Given the description of an element on the screen output the (x, y) to click on. 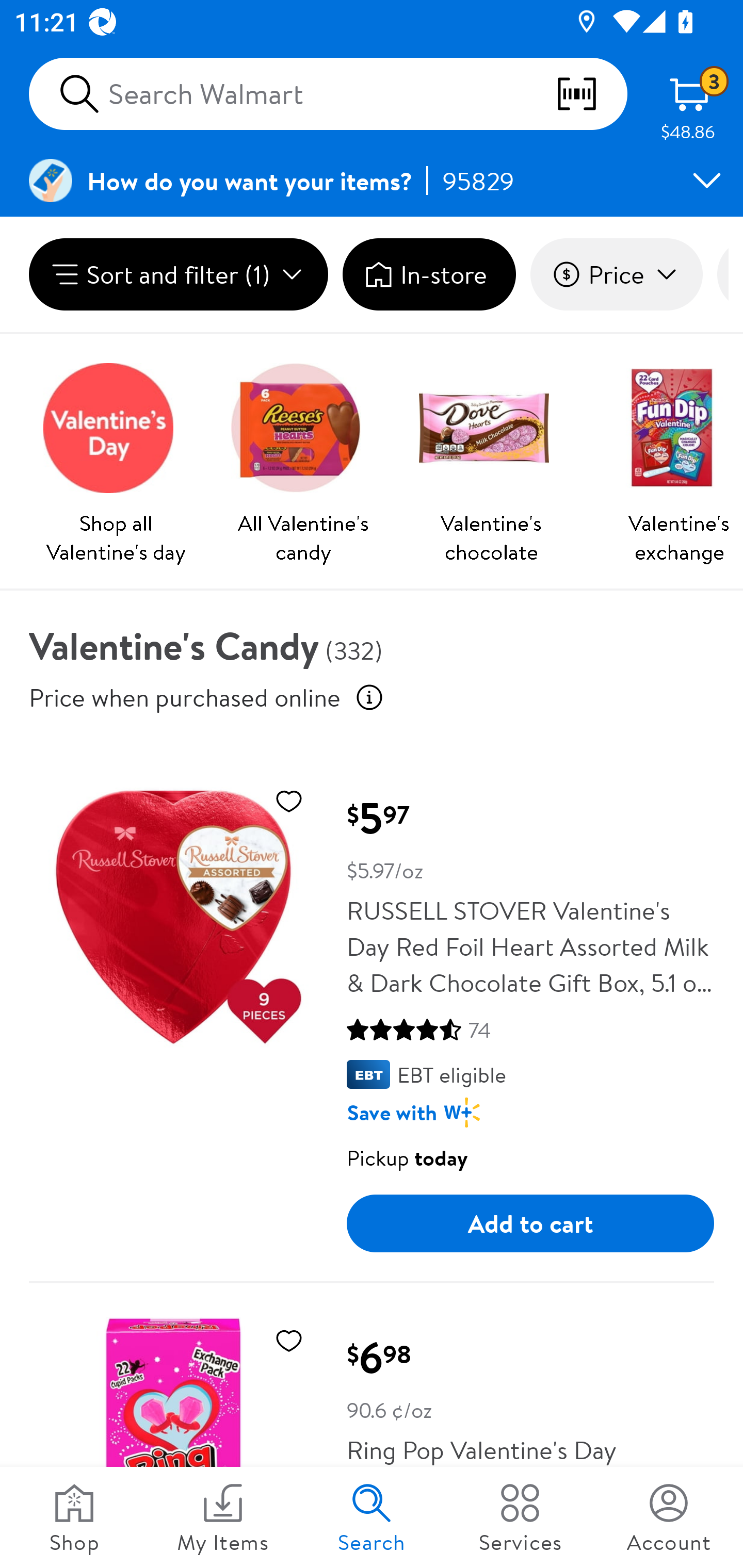
Search Walmart scan barcodes qr codes and more (327, 94)
scan barcodes qr codes and more (591, 94)
Filter by In-store, applied,  Filter icon In-store (428, 274)
Price when purchased online (184, 696)
Price when purchased online (369, 697)
Add to cart (530, 1223)
Shop (74, 1517)
My Items (222, 1517)
Services (519, 1517)
Account (668, 1517)
